Given the description of an element on the screen output the (x, y) to click on. 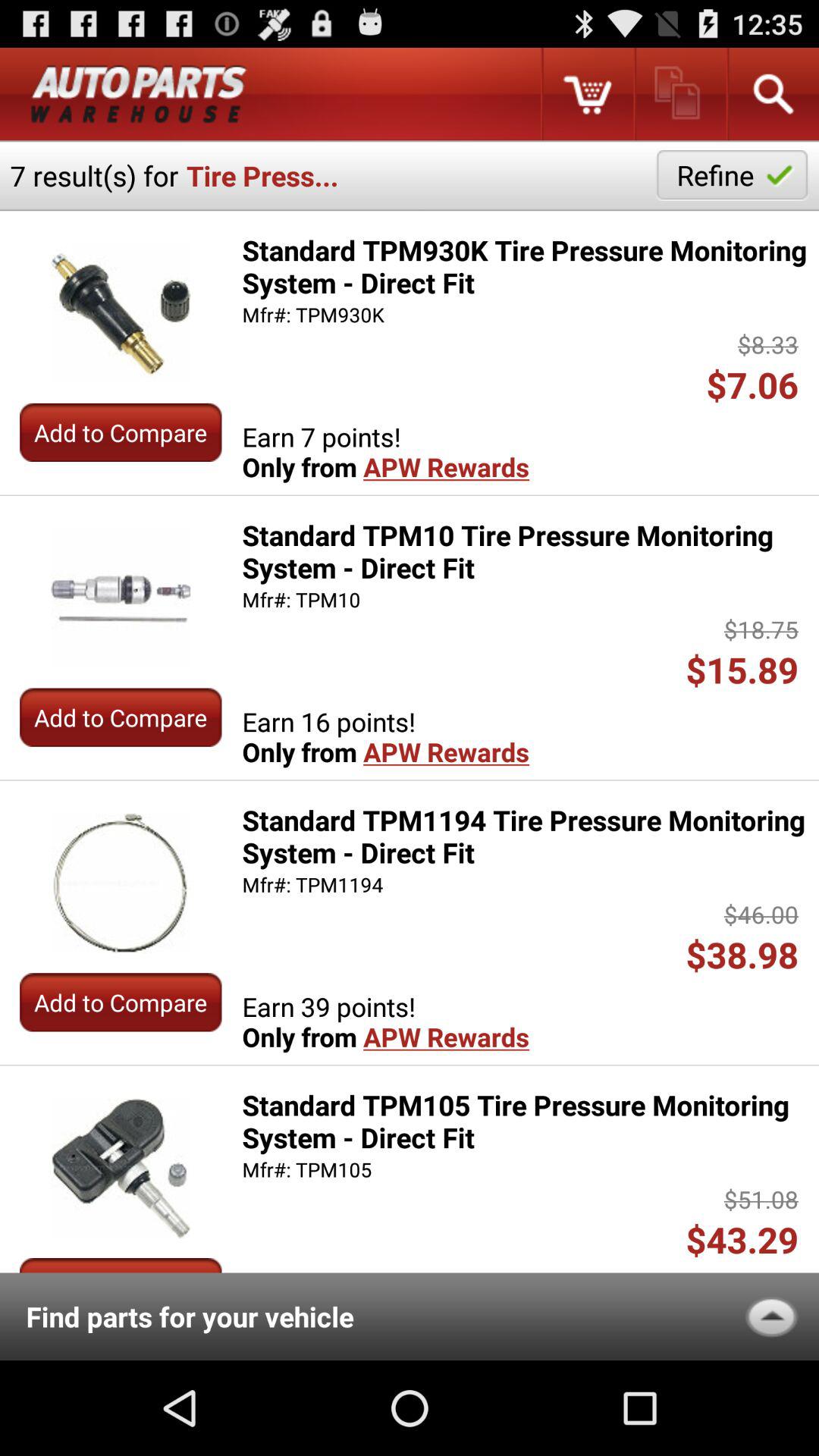
open the shopping cart (586, 93)
